Given the description of an element on the screen output the (x, y) to click on. 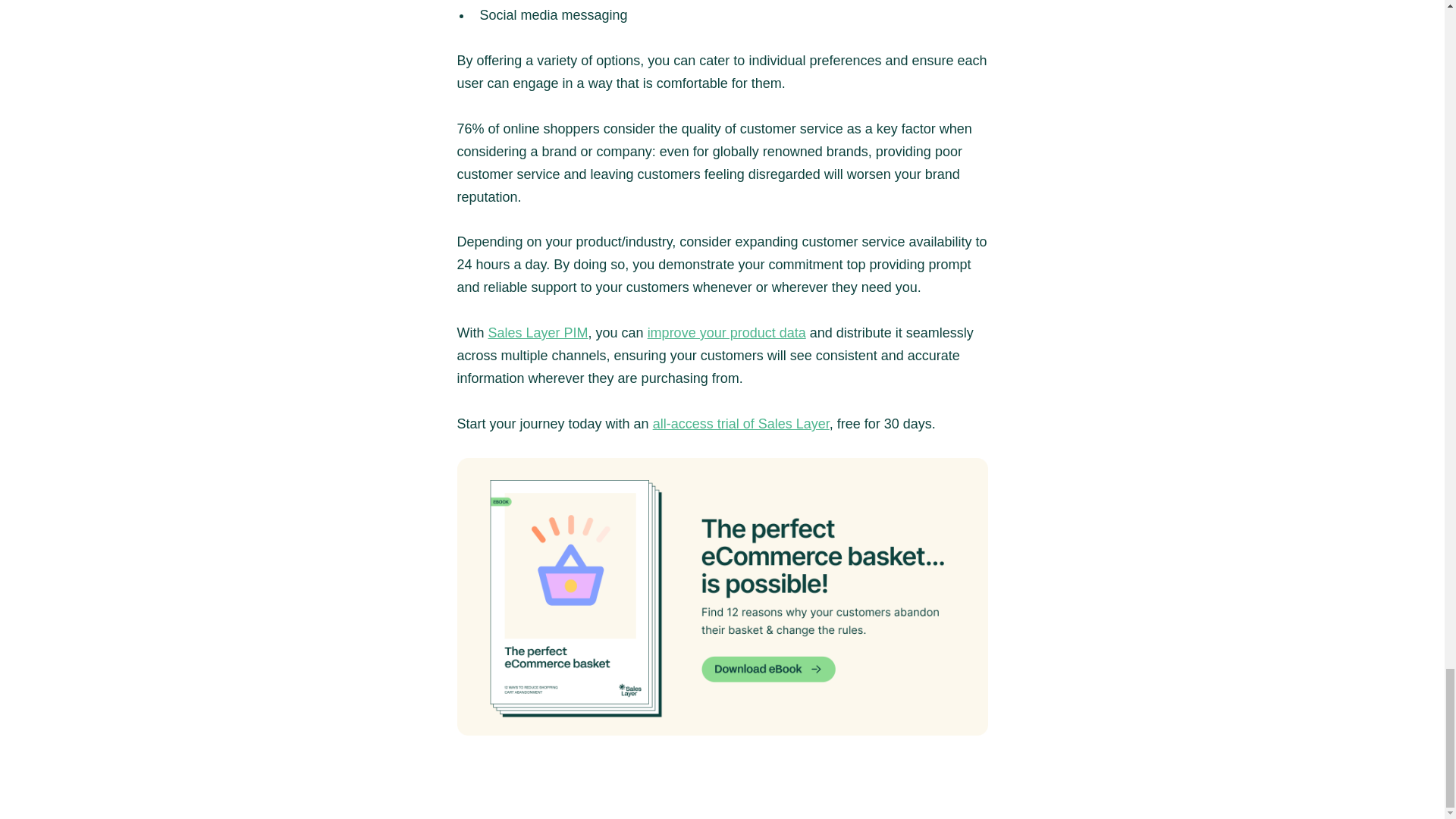
Sales Layer PIM (537, 332)
all-access trial of Sales Layer (740, 423)
improve your product data (726, 332)
